Given the description of an element on the screen output the (x, y) to click on. 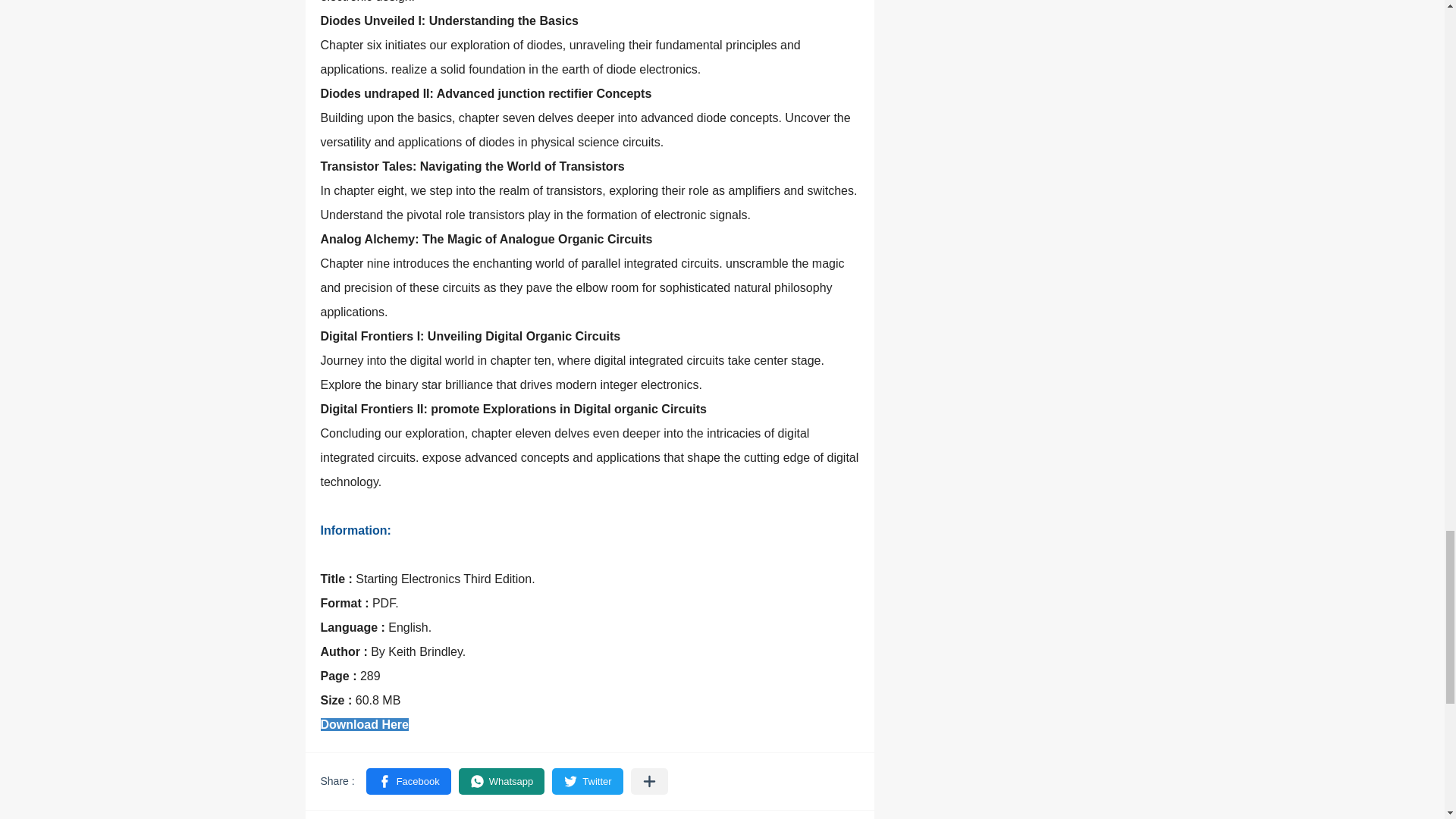
Download Here (363, 723)
